Given the description of an element on the screen output the (x, y) to click on. 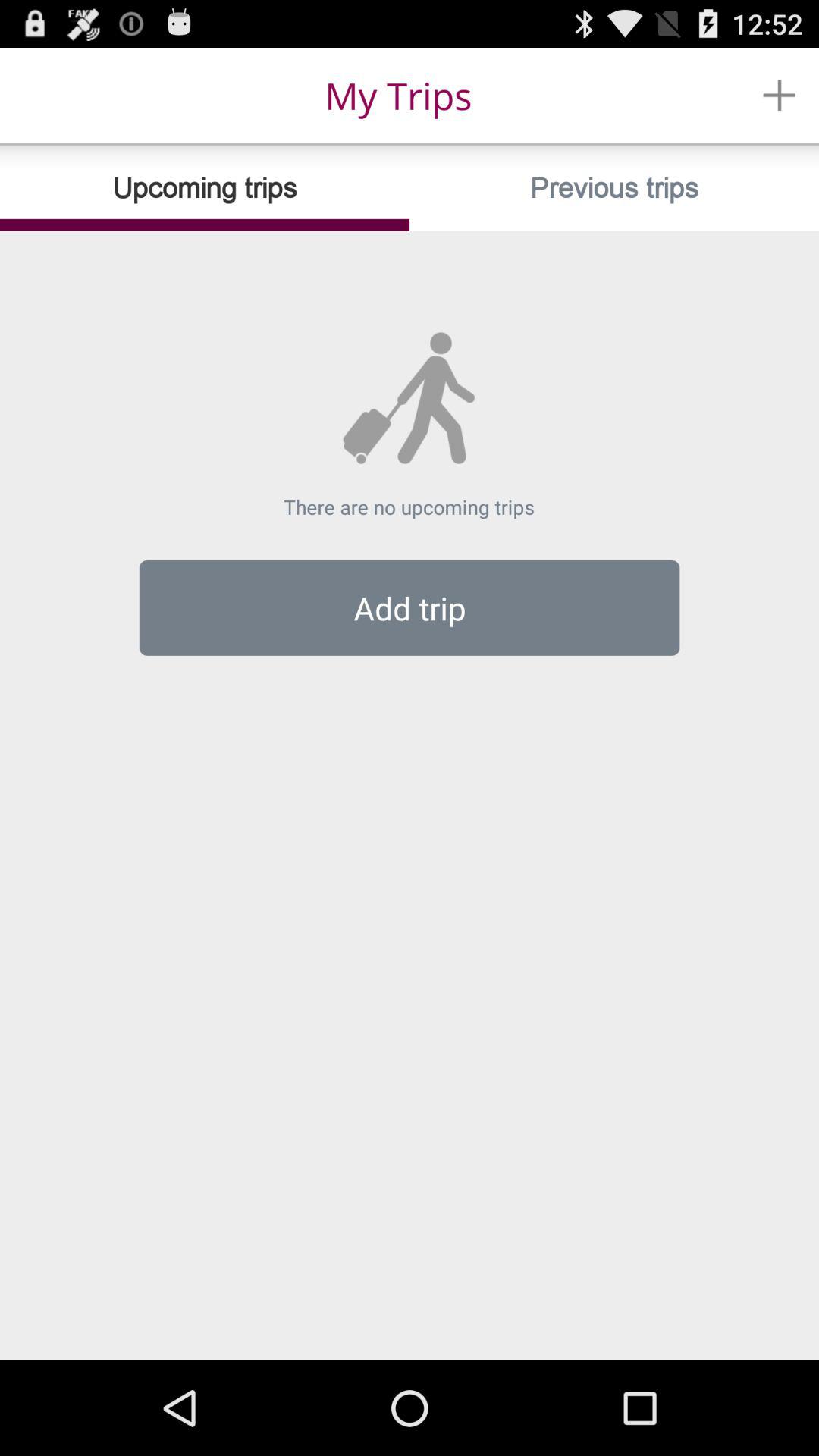
select the add trip (409, 607)
